Given the description of an element on the screen output the (x, y) to click on. 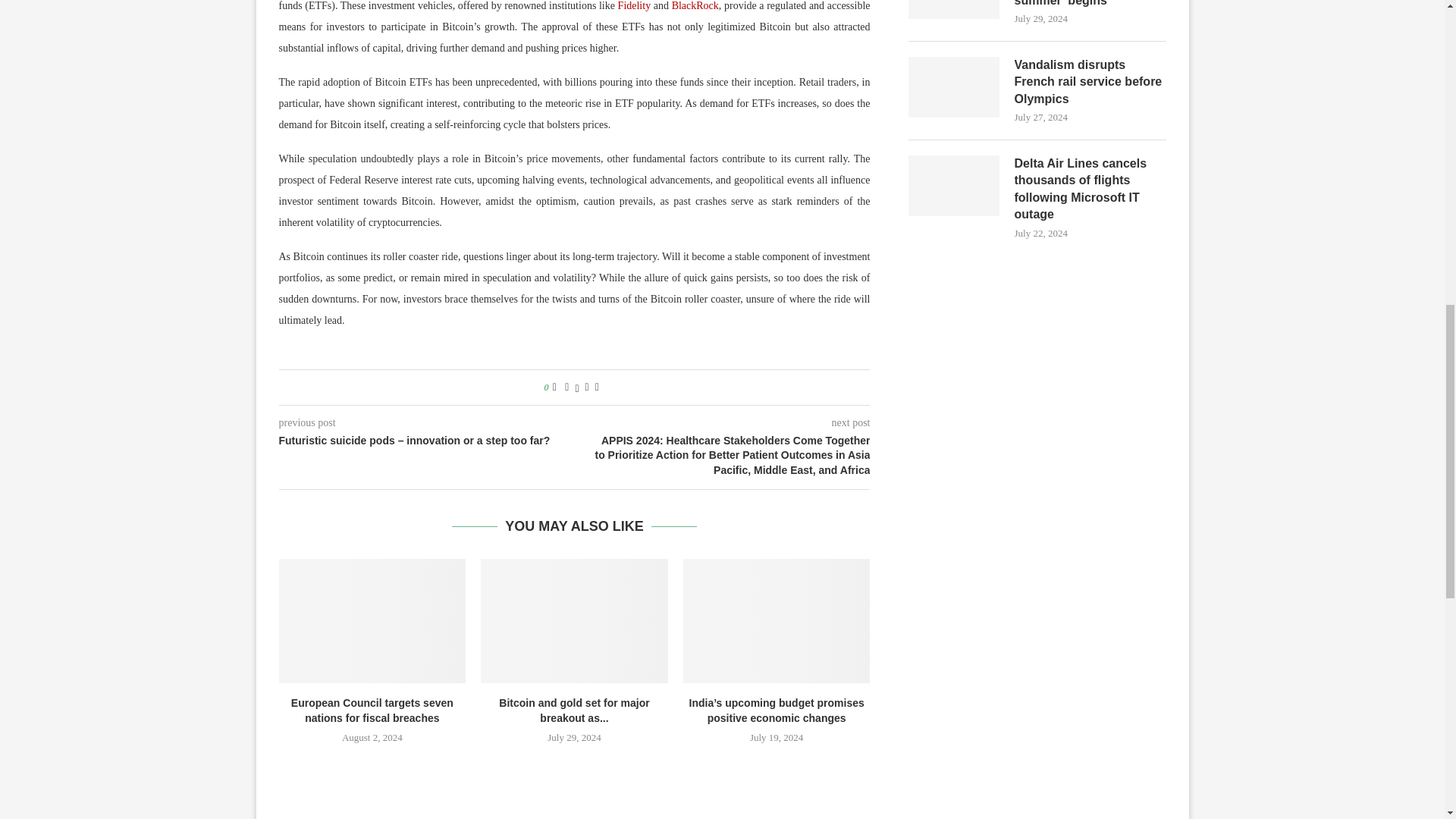
European Council targets seven nations for fiscal breaches (371, 709)
European Council targets seven nations for fiscal breaches (372, 620)
Fidelity (633, 5)
Like (554, 387)
Bitcoin and gold set for major breakout as... (574, 709)
BlackRock (695, 5)
